Given the description of an element on the screen output the (x, y) to click on. 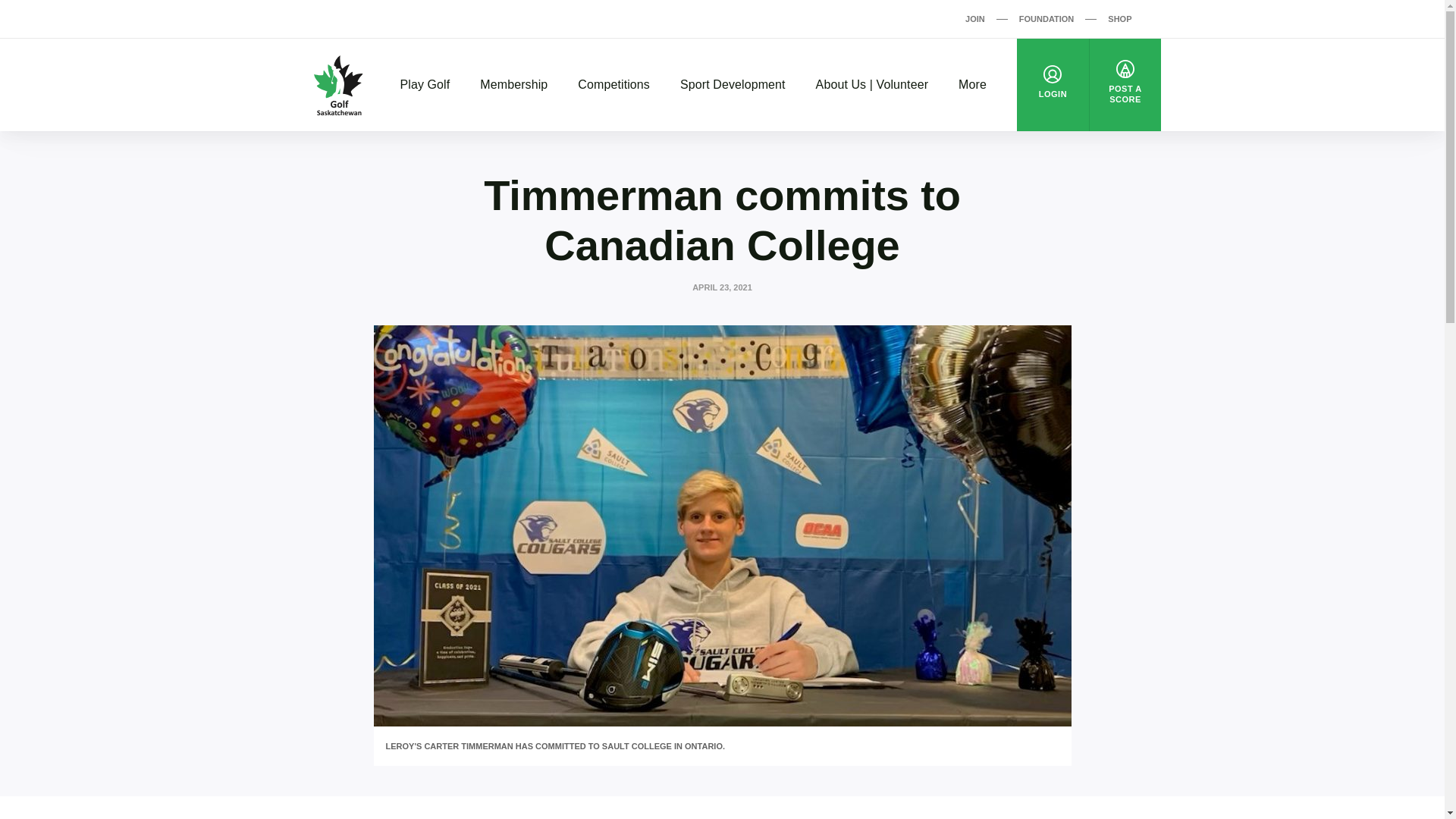
Competitions (613, 85)
Play Golf (425, 85)
FOUNDATION (1046, 18)
JOIN (975, 18)
Sport Development (732, 85)
Membership (513, 85)
SHOP (1119, 18)
